Given the description of an element on the screen output the (x, y) to click on. 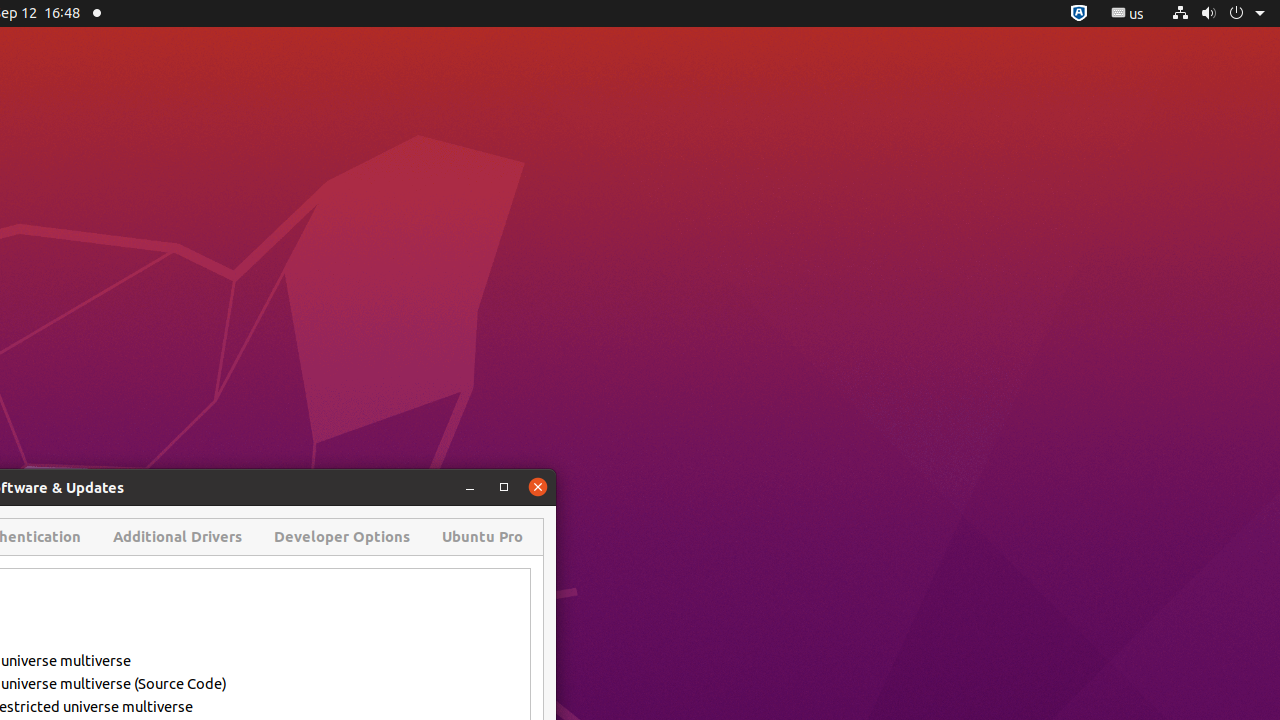
Developer Options Element type: page-tab (342, 537)
